Given the description of an element on the screen output the (x, y) to click on. 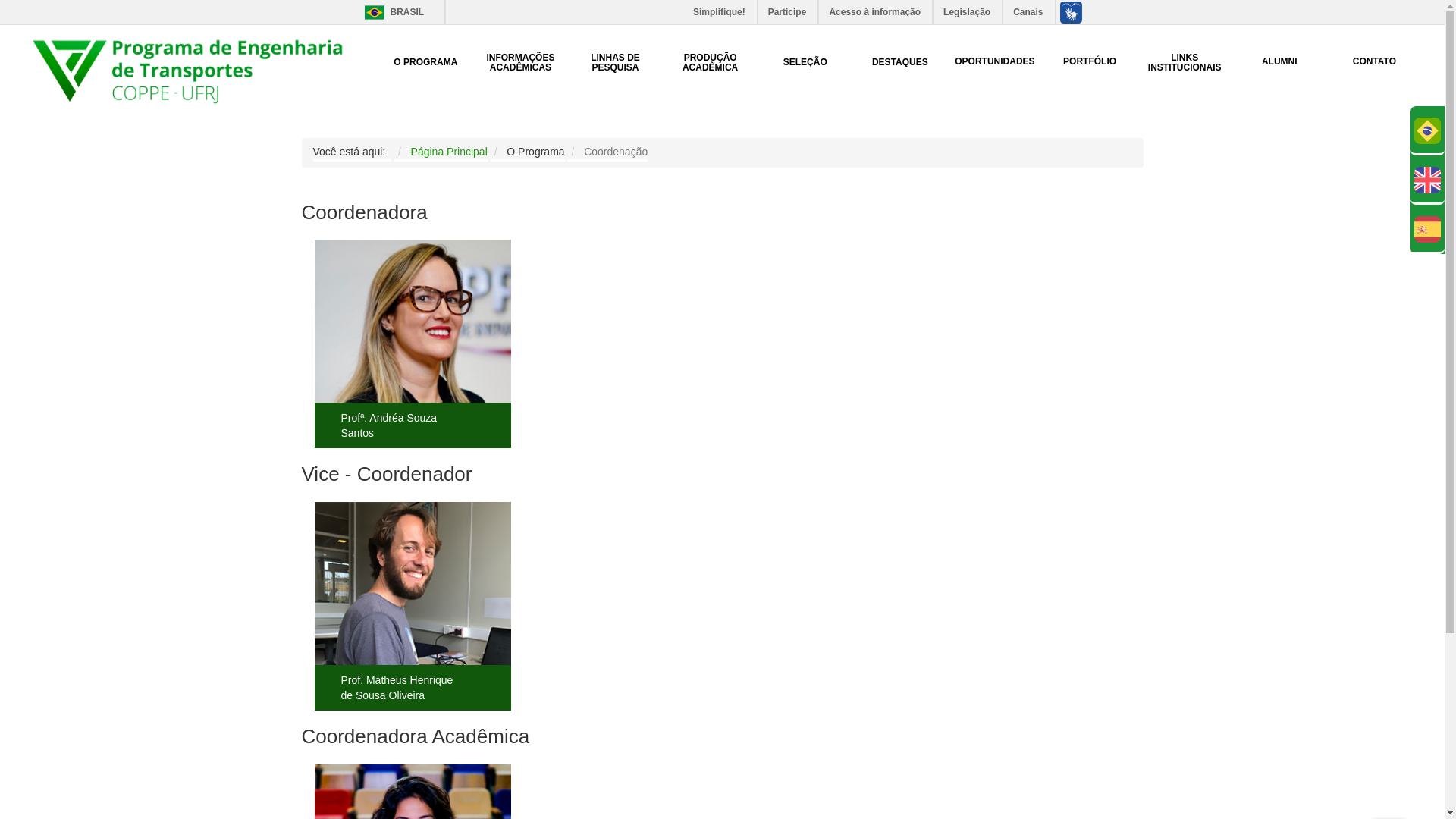
BRASIL Element type: text (373, 12)
CONTATO Element type: text (1374, 61)
OPORTUNIDADES Element type: text (994, 61)
Canais Element type: text (1028, 11)
ALUMNI Element type: text (1279, 61)
Participe Element type: text (788, 11)
Simplifique! Element type: text (719, 11)
